Given the description of an element on the screen output the (x, y) to click on. 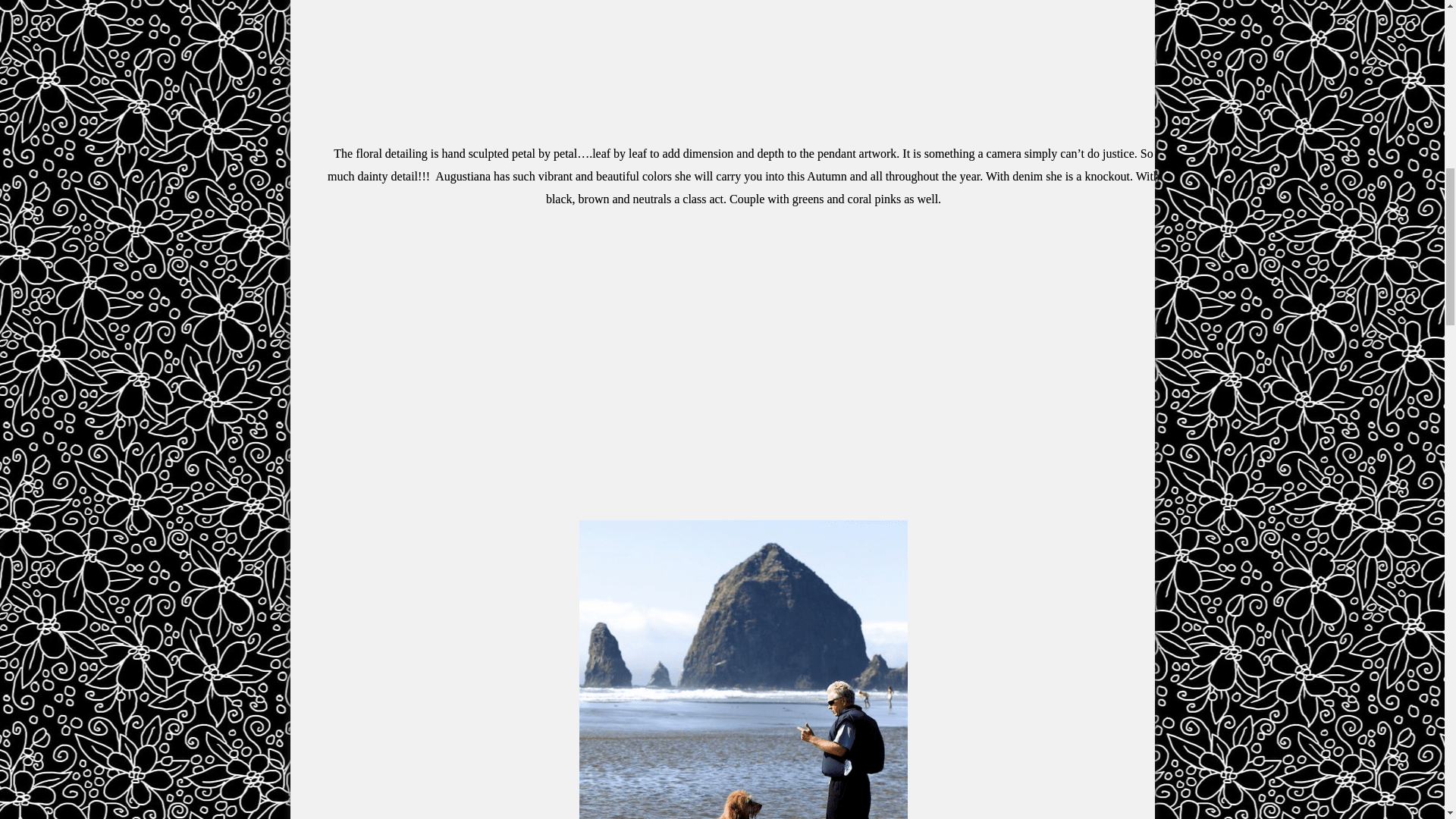
Screen shot 2011-08-22 at 9.27.33 AM (743, 669)
